Given the description of an element on the screen output the (x, y) to click on. 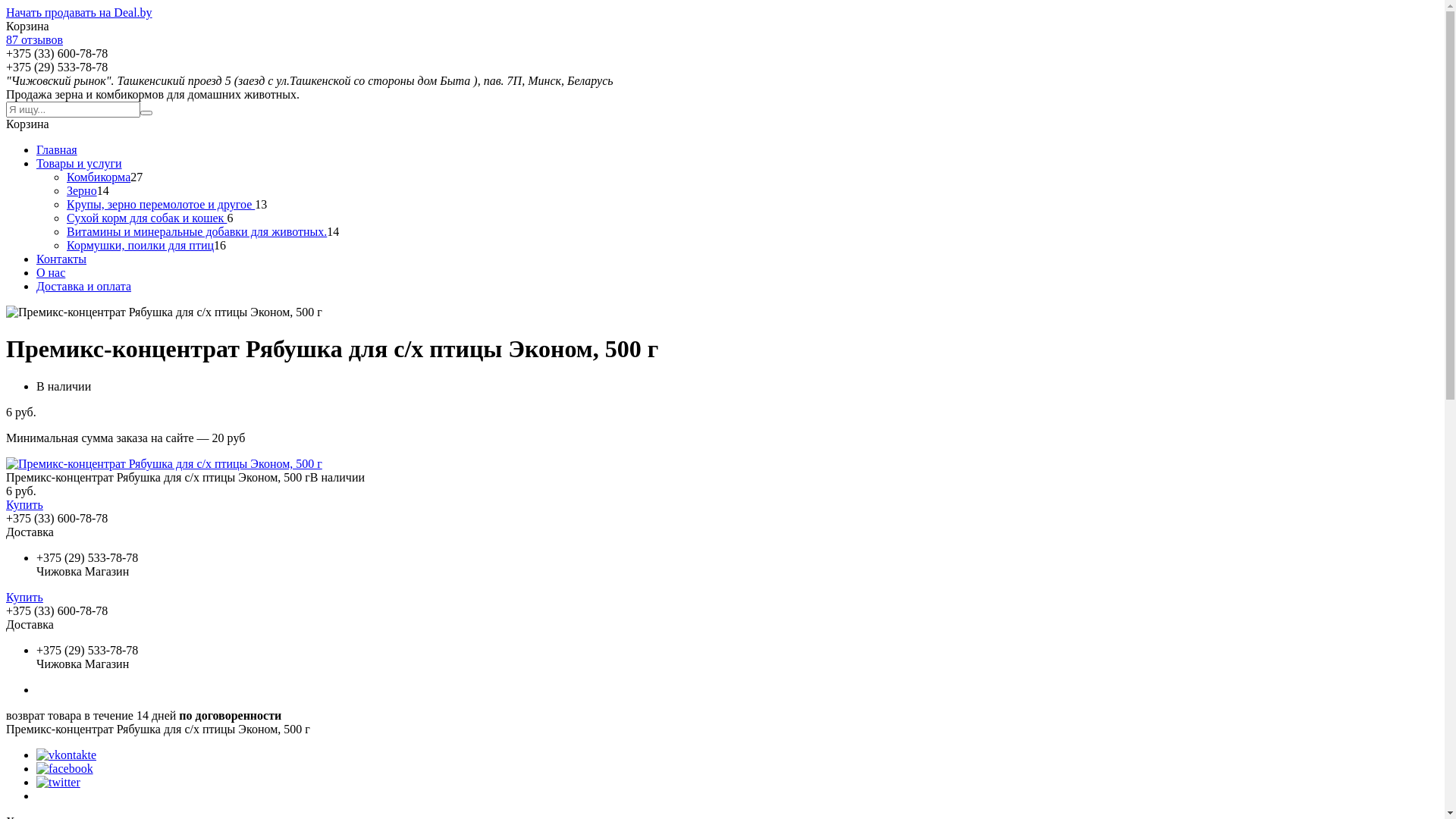
facebook Element type: hover (64, 768)
twitter Element type: hover (58, 781)
